Given the description of an element on the screen output the (x, y) to click on. 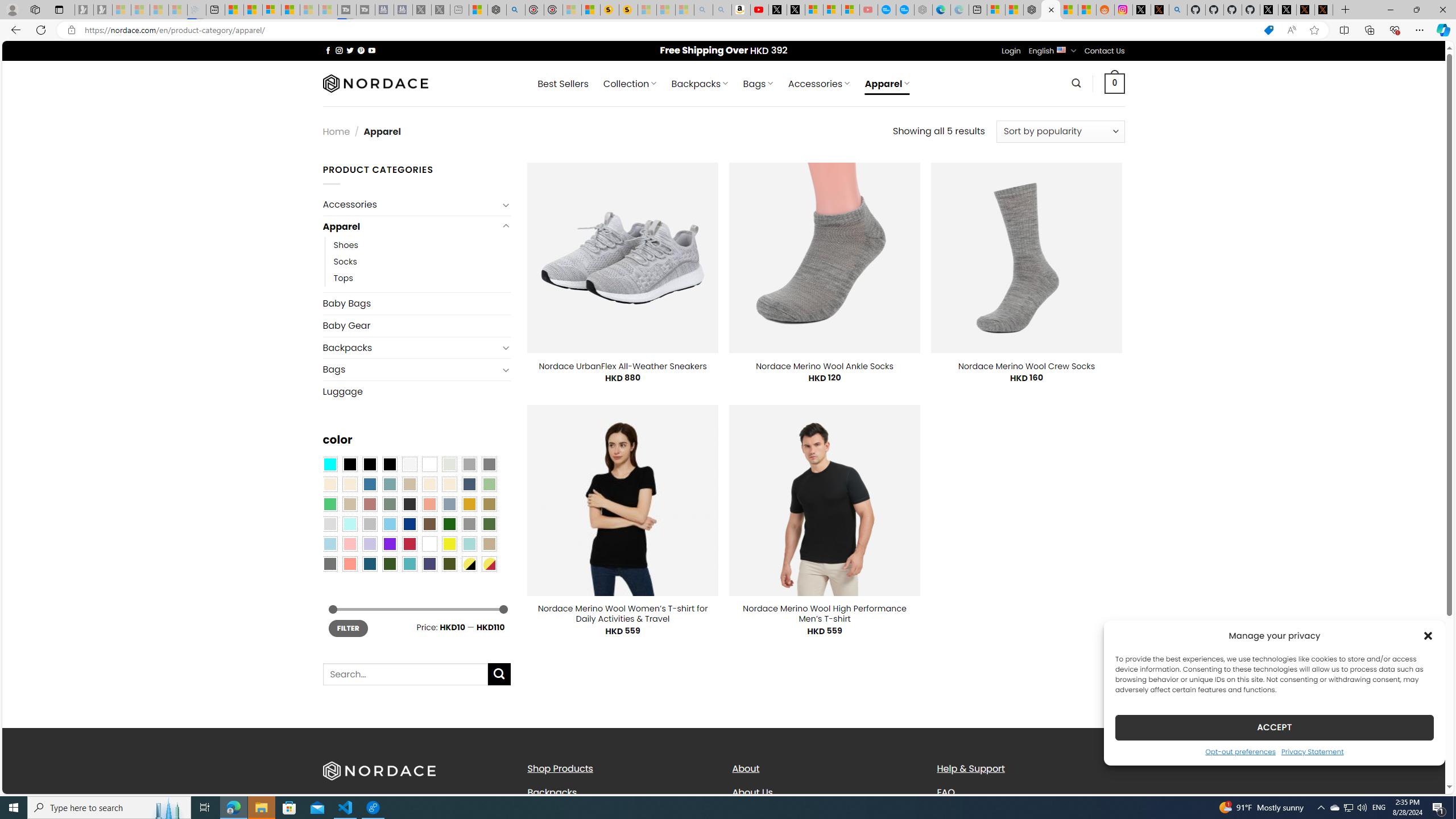
Backpacks (551, 792)
GitHub (@github) / X (1287, 9)
Socks (422, 262)
